Given the description of an element on the screen output the (x, y) to click on. 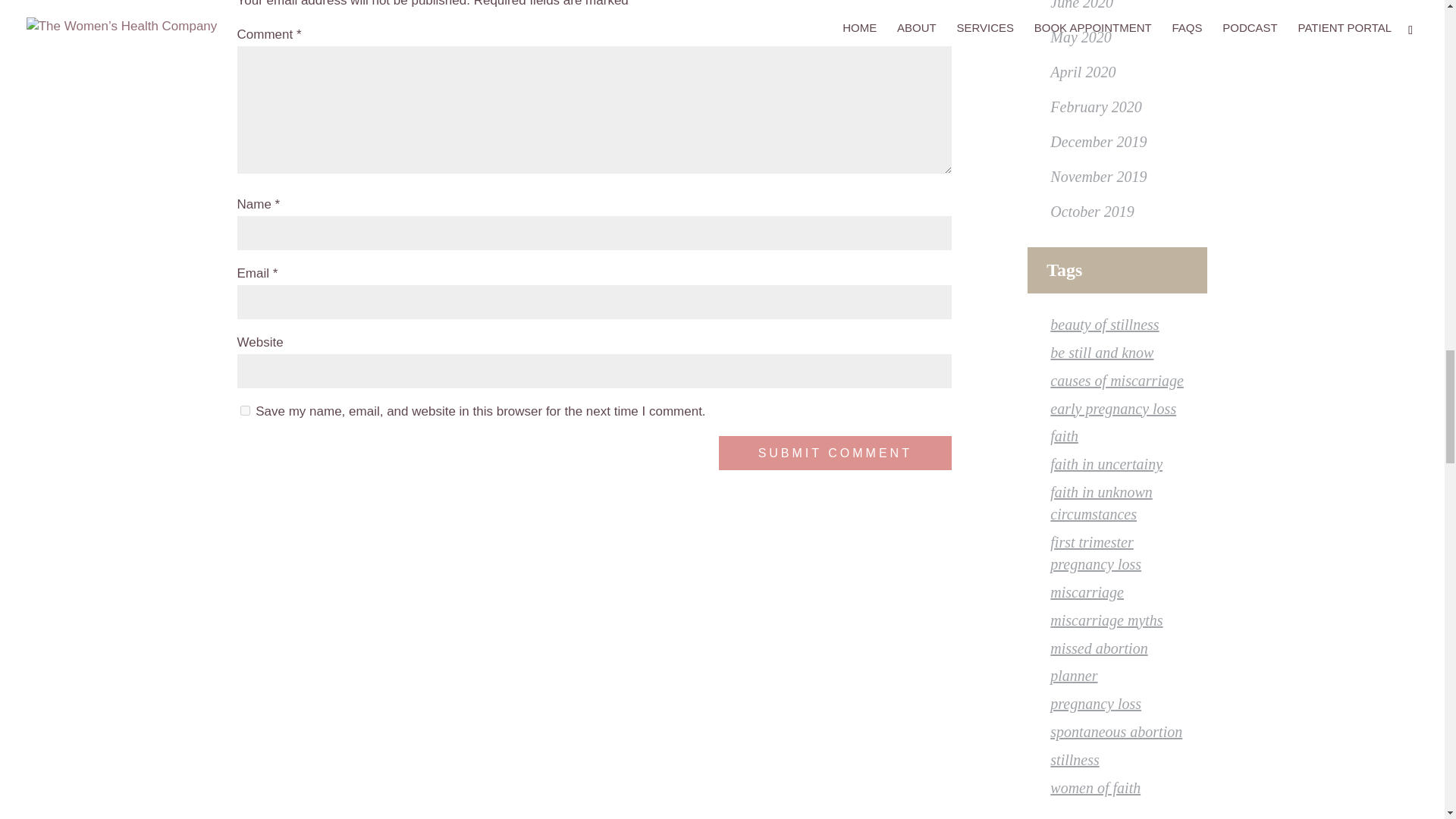
Submit Comment (835, 452)
yes (244, 410)
Submit Comment (835, 452)
